Given the description of an element on the screen output the (x, y) to click on. 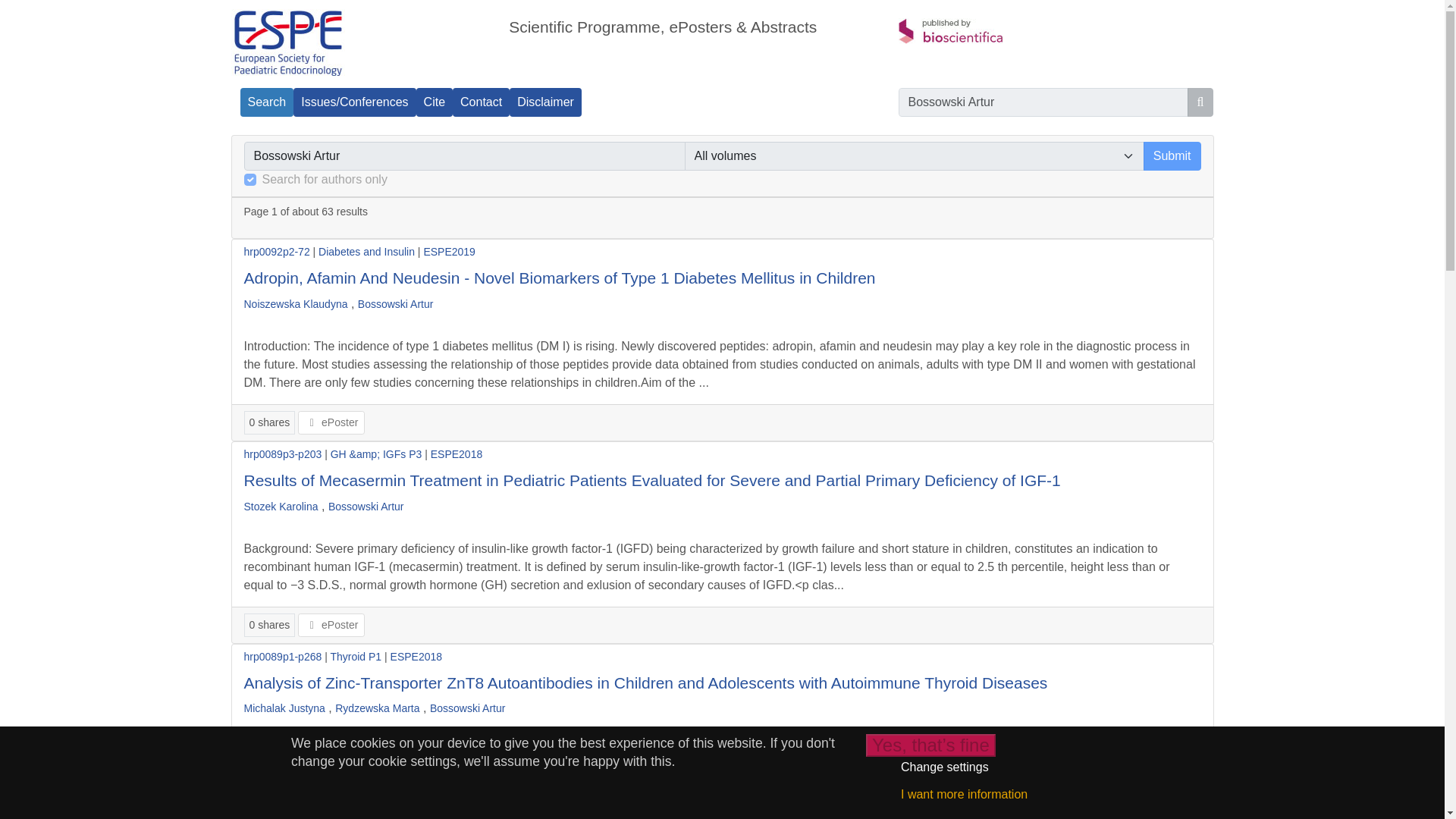
ESPE2018 (456, 453)
Submit (1171, 155)
hrp0092p2-72 (277, 251)
Diabetes and Insulin (366, 251)
Noiszewska Klaudyna (295, 304)
Thyroid P1 (355, 656)
Rydzewska Marta (376, 707)
Bossowski Artur (395, 304)
ePoster (331, 625)
Contact (480, 102)
Search (267, 102)
1 (250, 179)
ESPE2019 (449, 251)
